Given the description of an element on the screen output the (x, y) to click on. 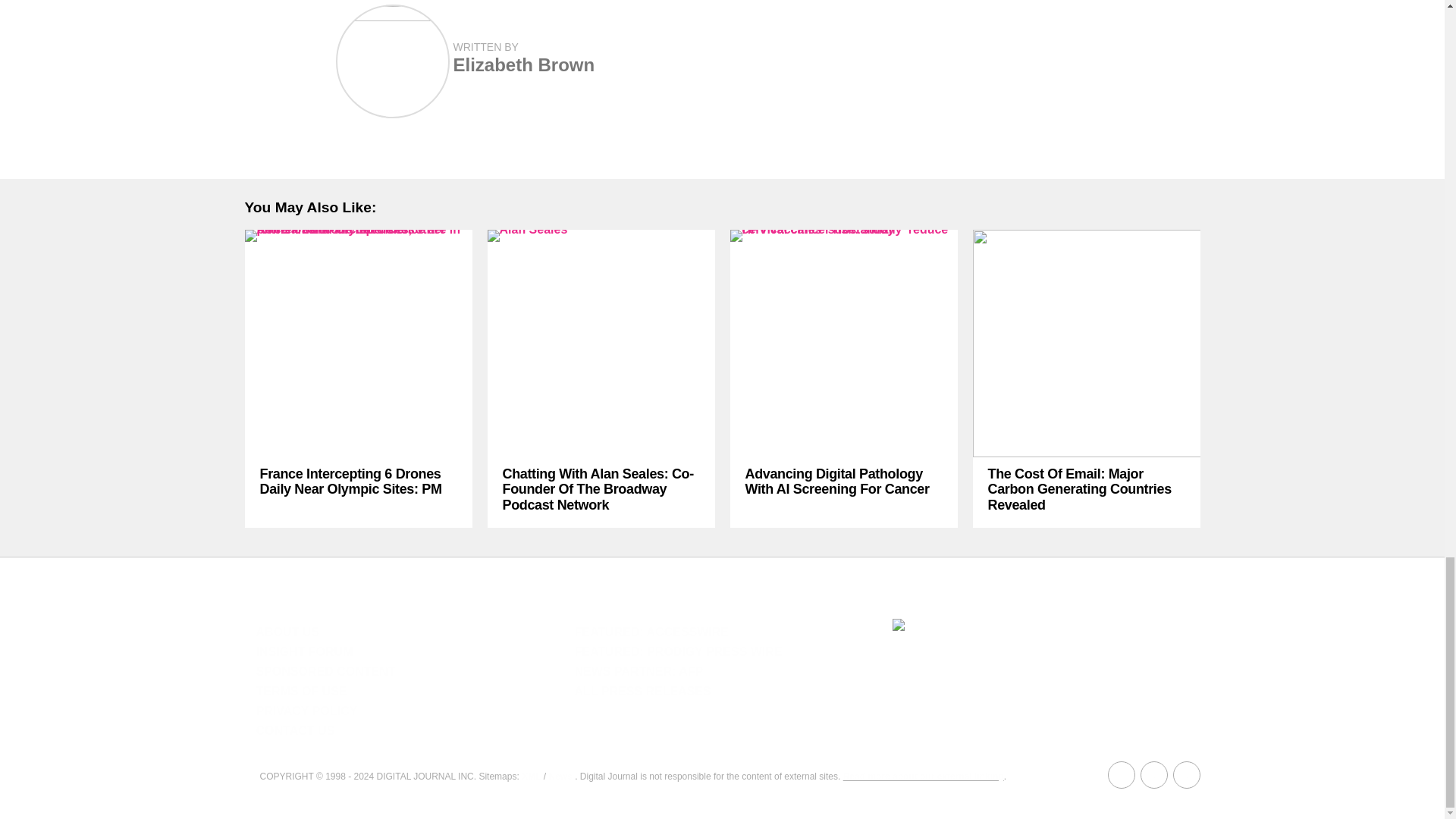
Posts by Elizabeth Brown (523, 64)
